Given the description of an element on the screen output the (x, y) to click on. 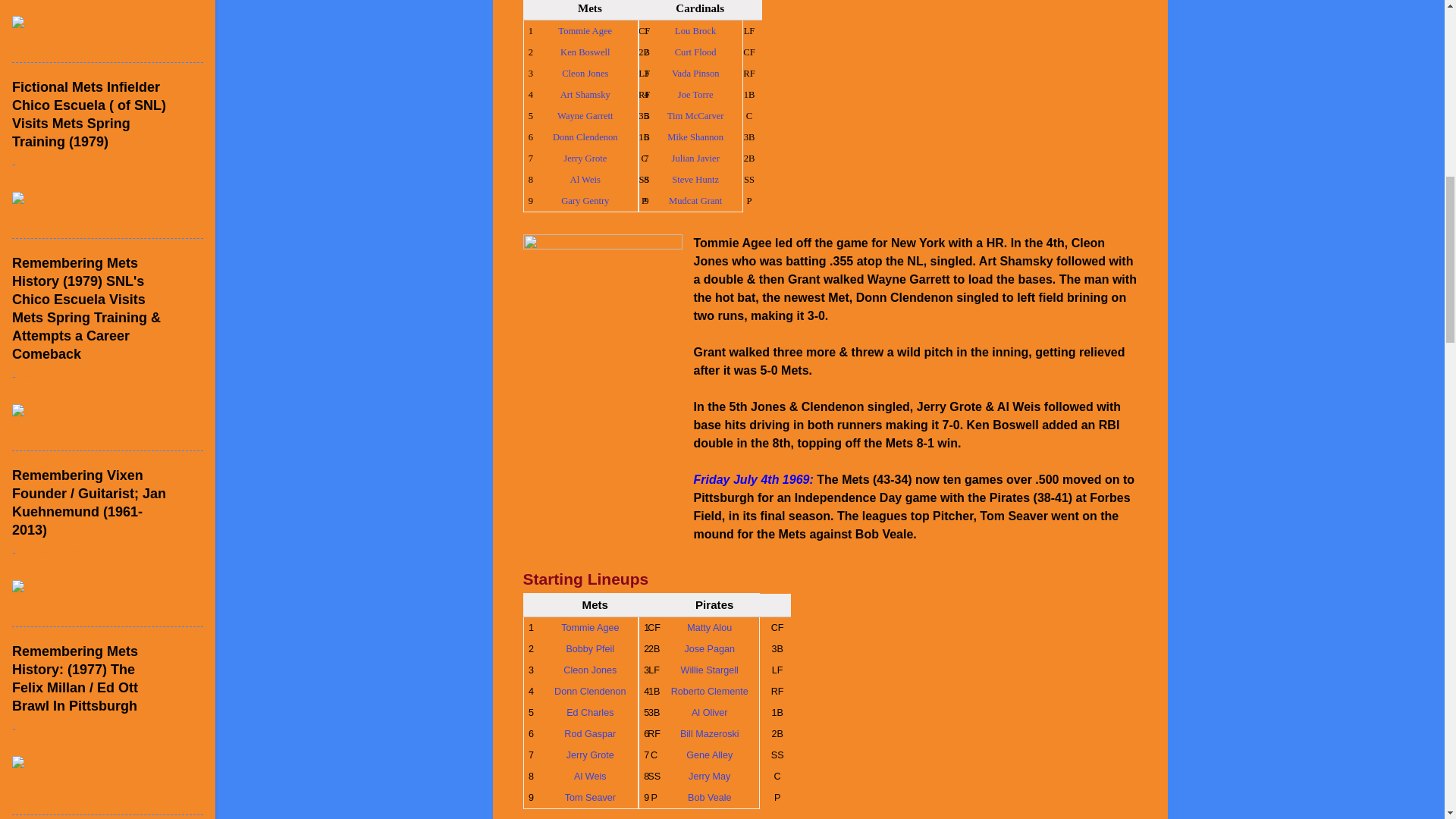
Donn Clendenon (585, 136)
Wayne Garrett (584, 115)
Art Shamsky (585, 94)
Mudcat Grant (695, 200)
Steve Huntz (695, 179)
Vada Pinson (695, 72)
Ed Charles (589, 712)
Rod Gaspar (589, 733)
Tim McCarver (694, 115)
Ken Boswell (585, 51)
Mike Shannon (694, 136)
Cleon Jones (589, 670)
Julian Javier (695, 158)
Cleon Jones (585, 72)
Al Weis (584, 179)
